Given the description of an element on the screen output the (x, y) to click on. 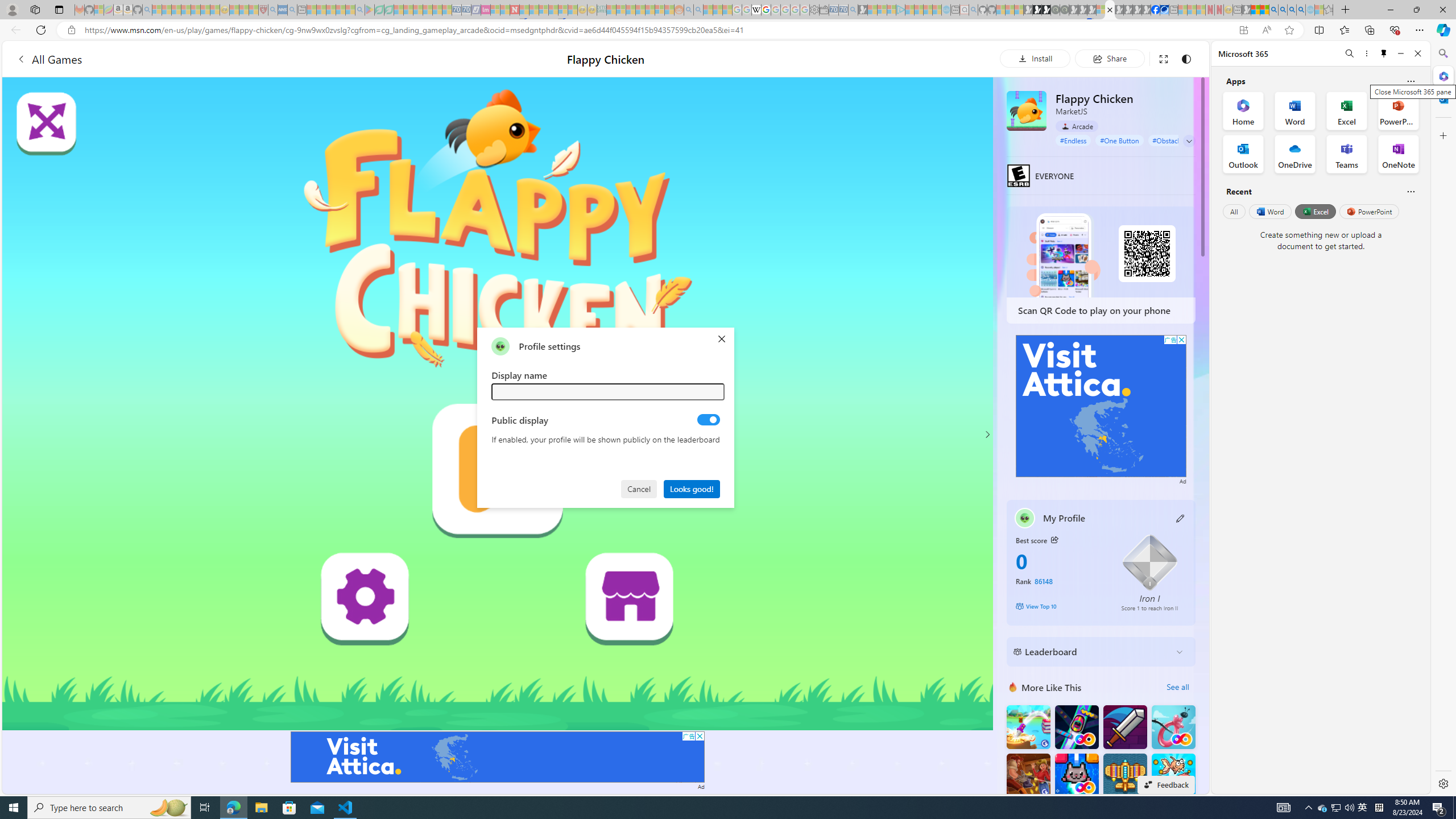
Advertisement (1101, 405)
Home Office App (1243, 110)
All Games (212, 58)
Close Microsoft 365 pane (1442, 76)
github - Search - Sleeping (972, 9)
Balloon FRVR (1173, 726)
